Given the description of an element on the screen output the (x, y) to click on. 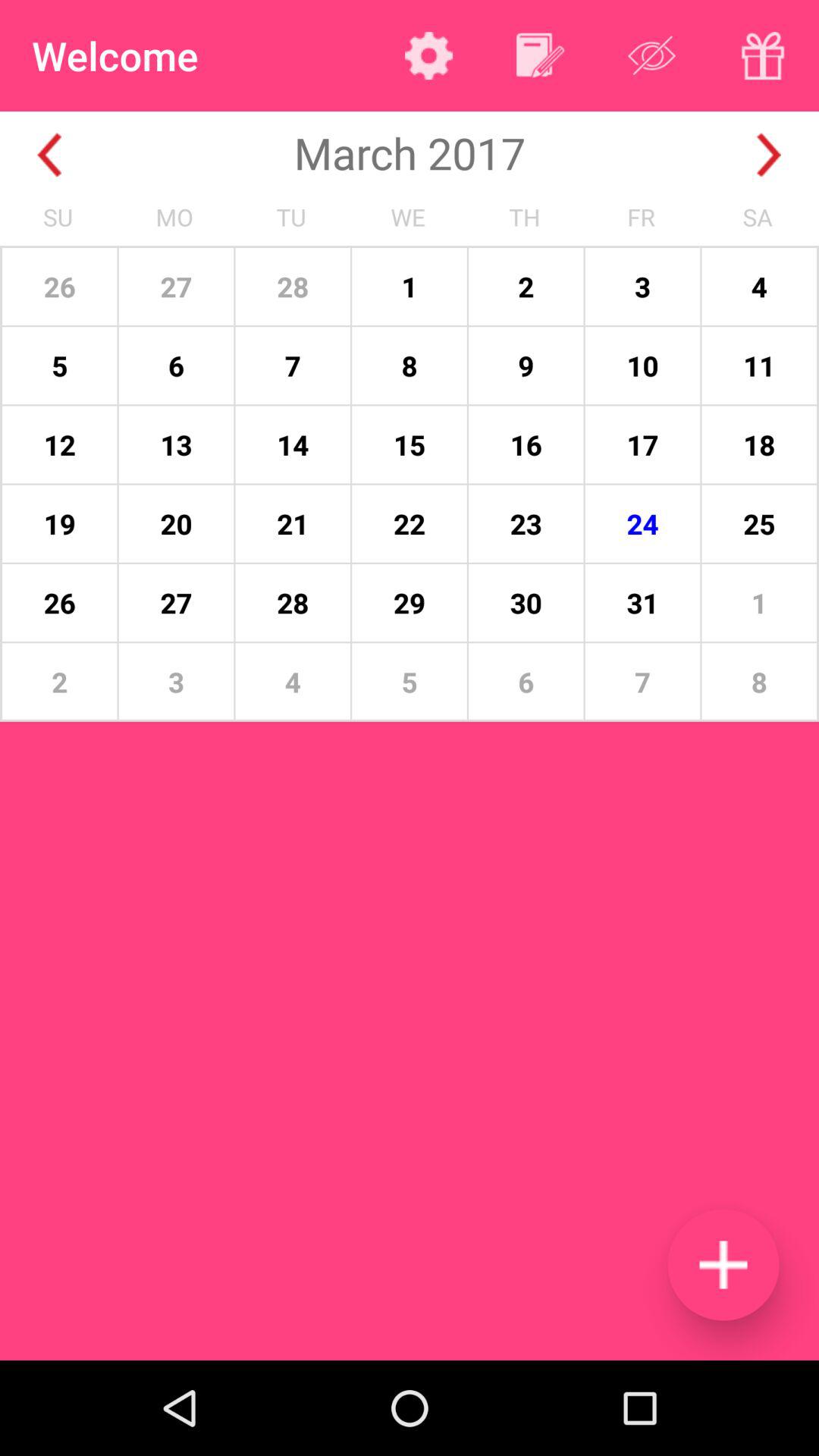
scroll to march 2017 (409, 152)
